Given the description of an element on the screen output the (x, y) to click on. 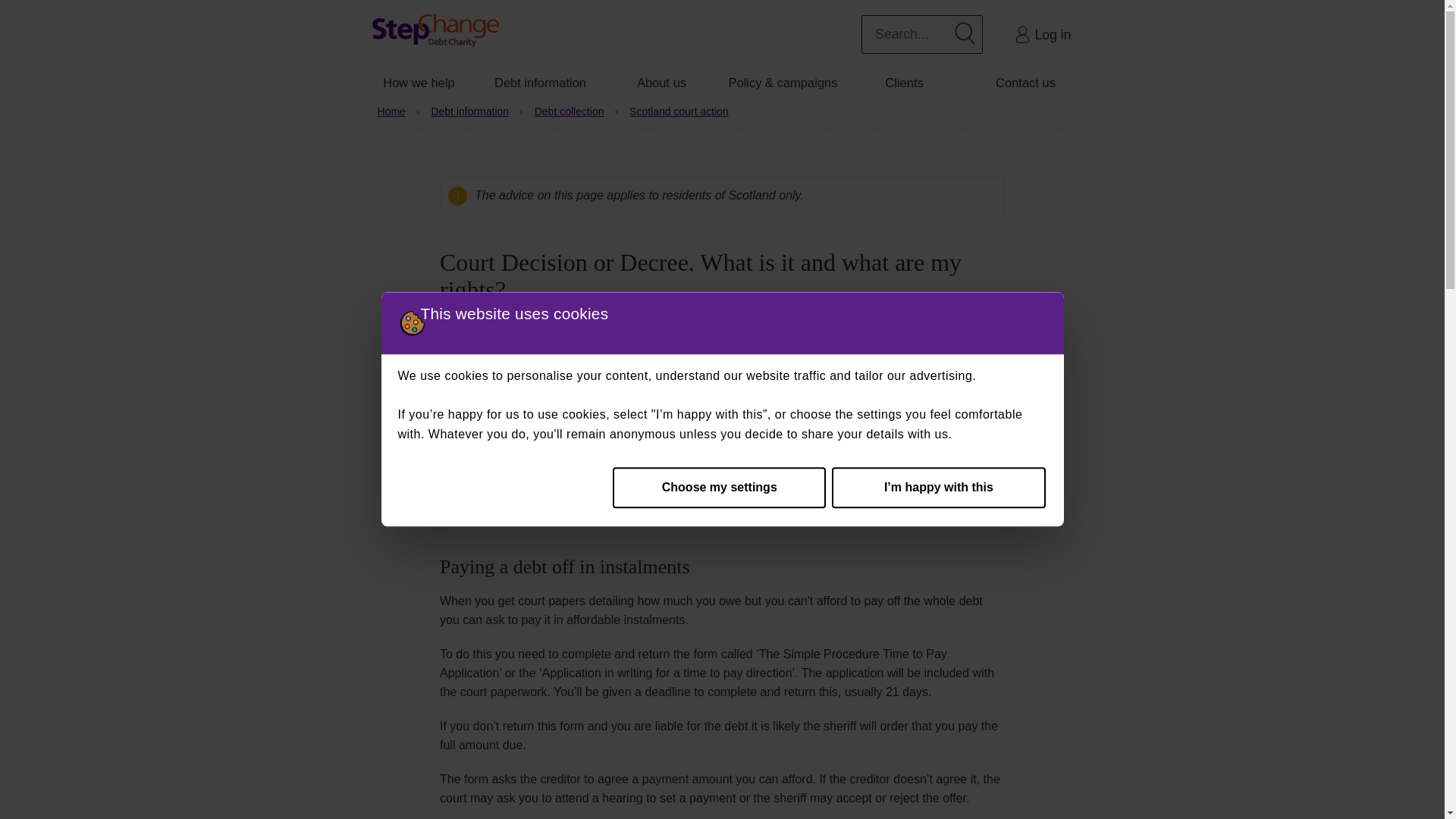
Return to debt advice (1022, 34)
